Given the description of an element on the screen output the (x, y) to click on. 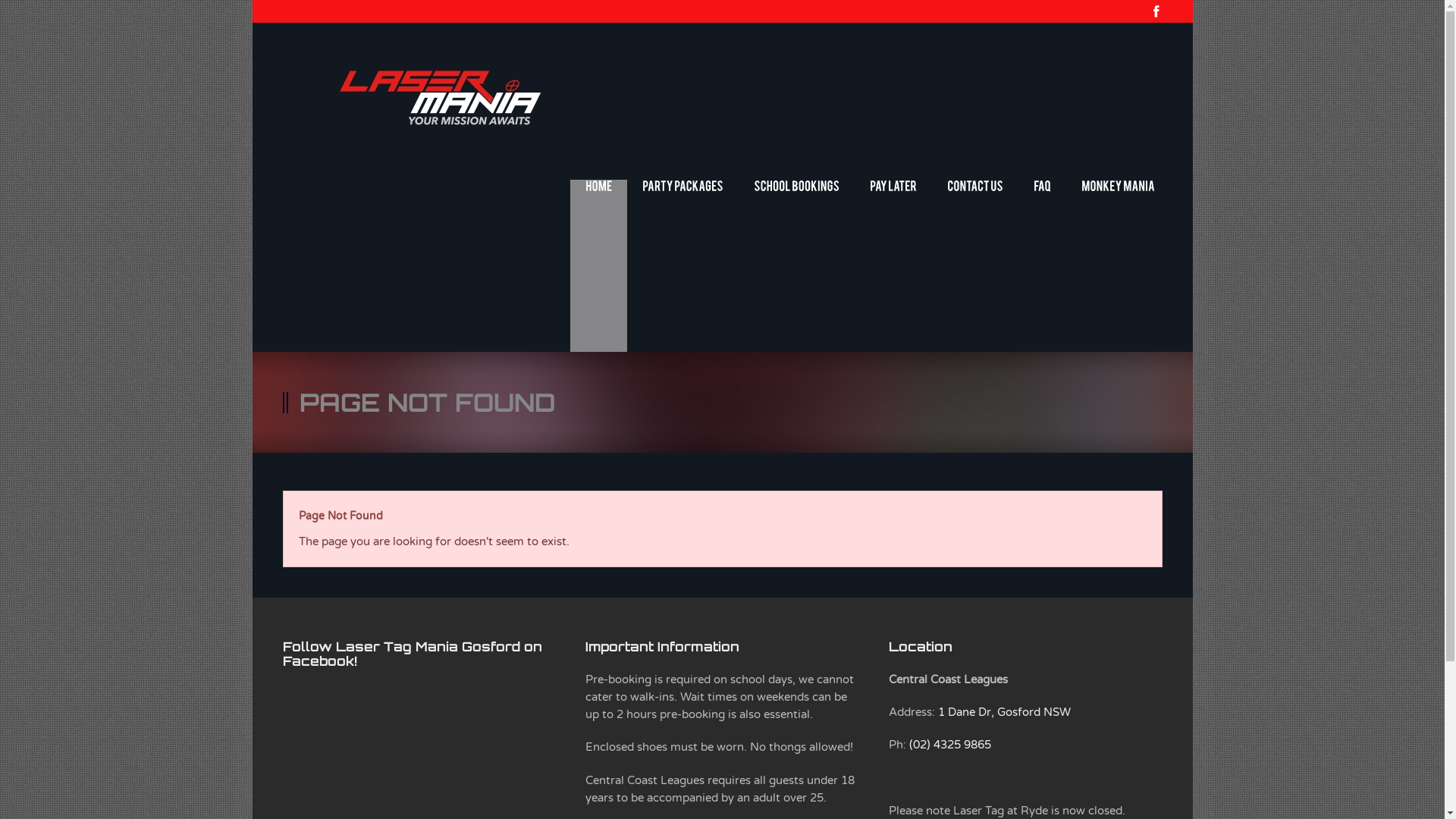
1 Dane Dr, Gosford NSW Element type: text (1004, 711)
(02) 4325 9865 Element type: text (950, 744)
